Given the description of an element on the screen output the (x, y) to click on. 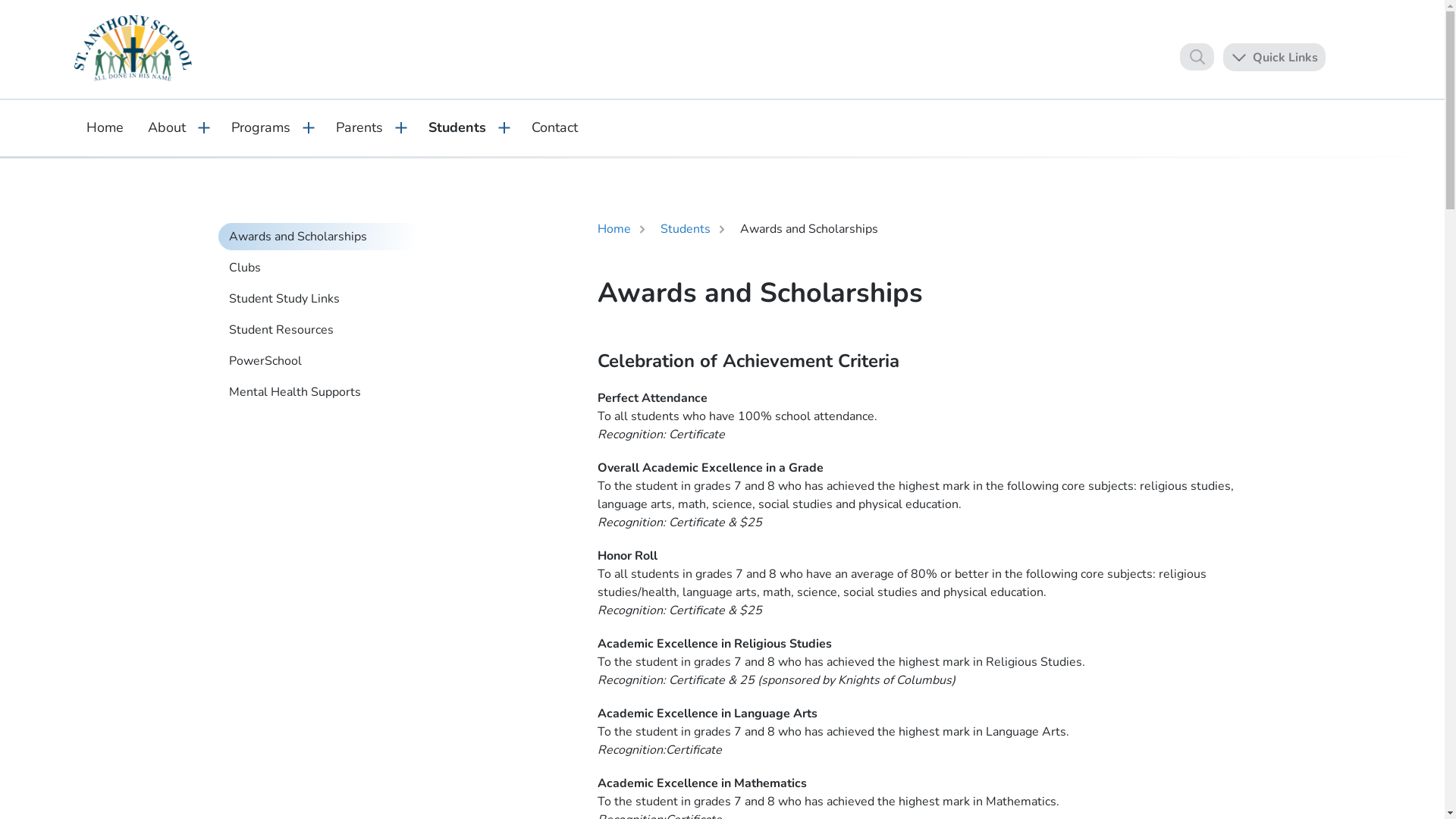
Student Study Links Element type: text (328, 298)
home Element type: hover (133, 49)
Students Element type: text (684, 229)
Clubs Element type: text (328, 267)
Students Element type: text (456, 127)
About Element type: text (165, 127)
Quick Links Element type: text (1273, 56)
PowerSchool Element type: text (328, 360)
Parents Element type: text (358, 127)
Mental Health Supports Element type: text (328, 391)
Programs Element type: text (259, 127)
Contact Element type: text (553, 127)
Student Resources Element type: text (328, 329)
Home Element type: text (613, 229)
Awards and Scholarships Element type: text (328, 236)
Home Element type: text (104, 127)
